Given the description of an element on the screen output the (x, y) to click on. 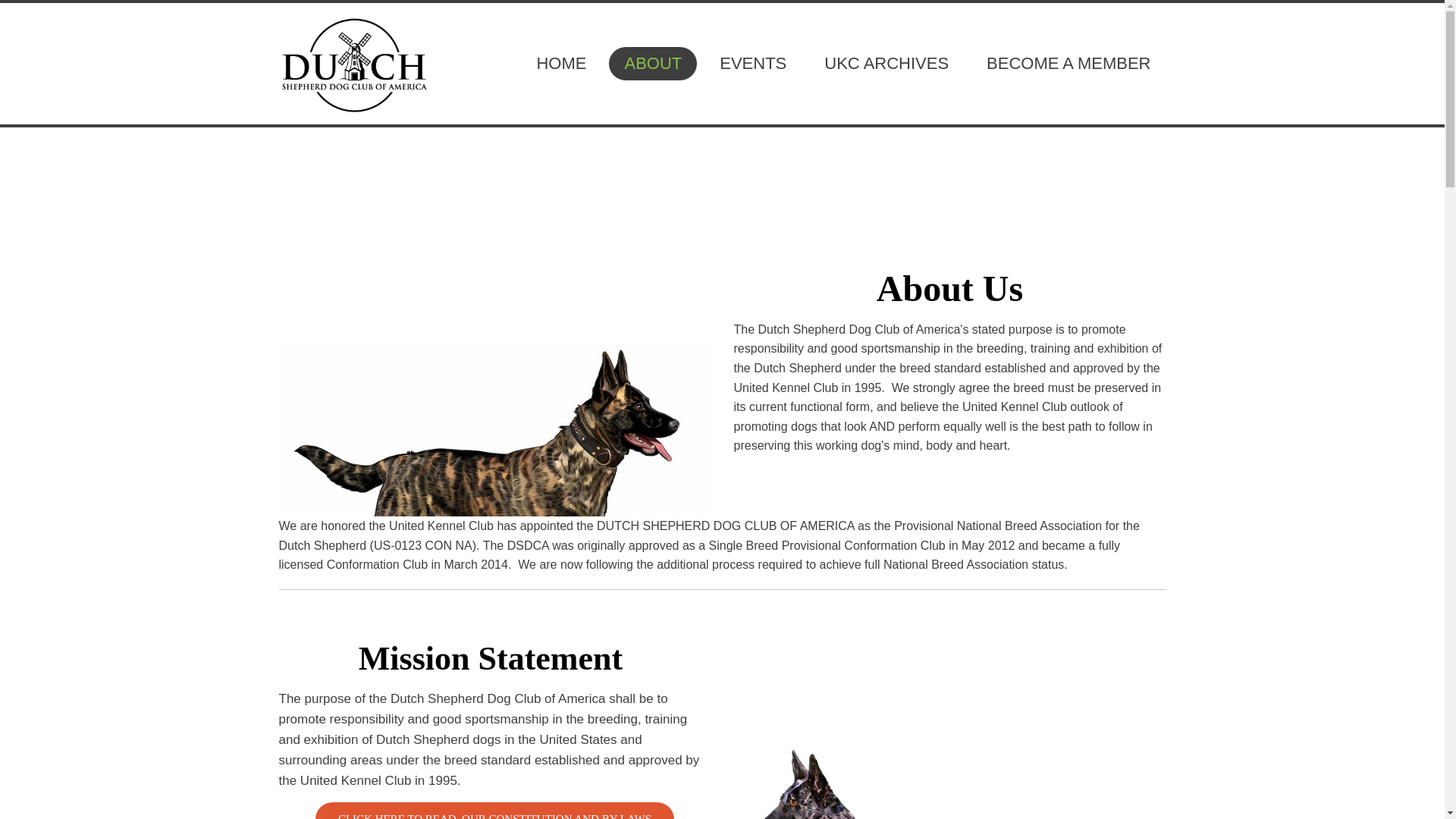
HOME (561, 63)
UKC ARCHIVES (886, 63)
BECOME A MEMBER (1068, 63)
CLICK HERE TO READ OUR CONSTITUTION AND BY-LAWS (494, 810)
ABOUT (652, 63)
EVENTS (753, 63)
